Given the description of an element on the screen output the (x, y) to click on. 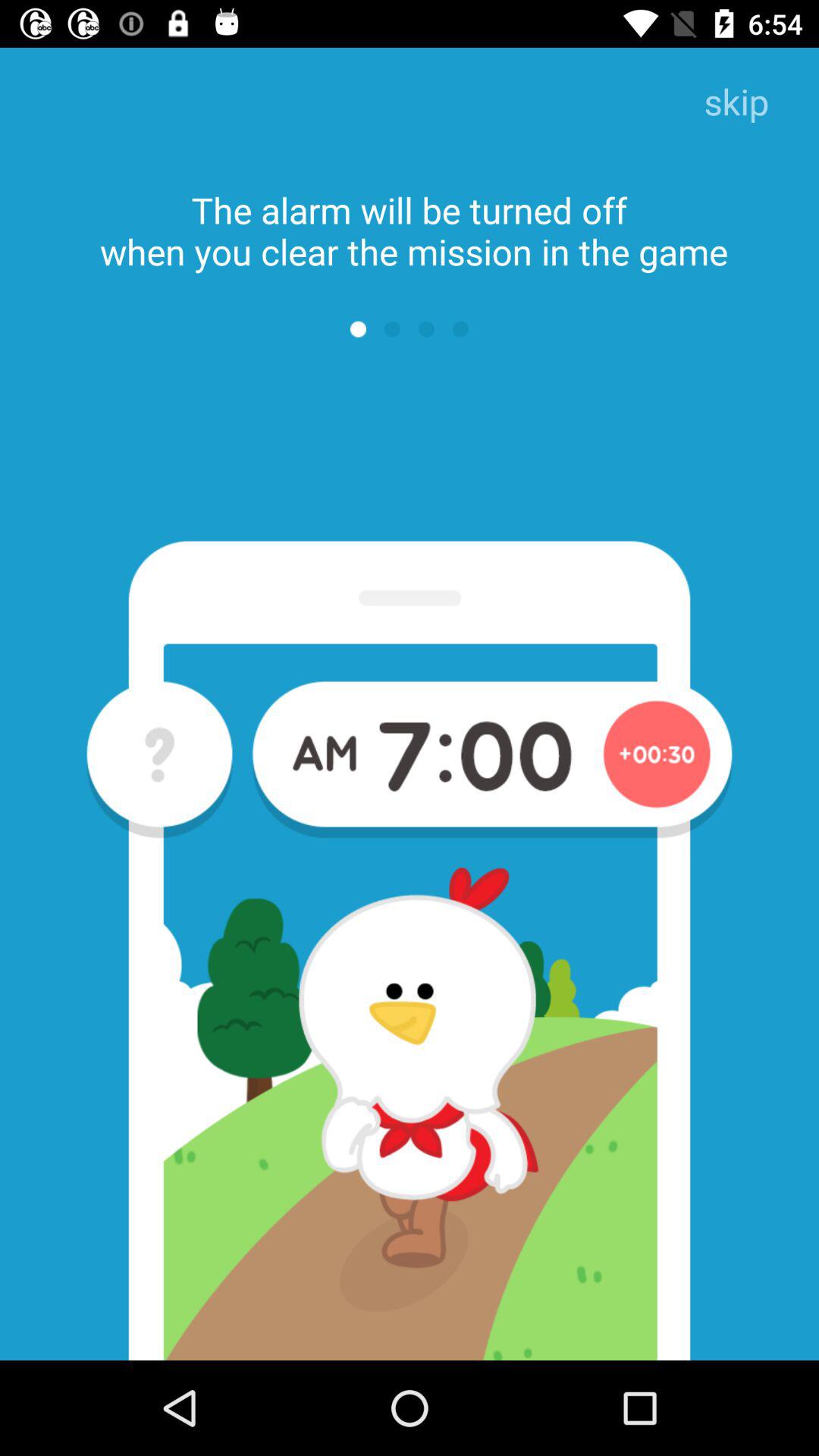
press item at the top right corner (736, 103)
